Given the description of an element on the screen output the (x, y) to click on. 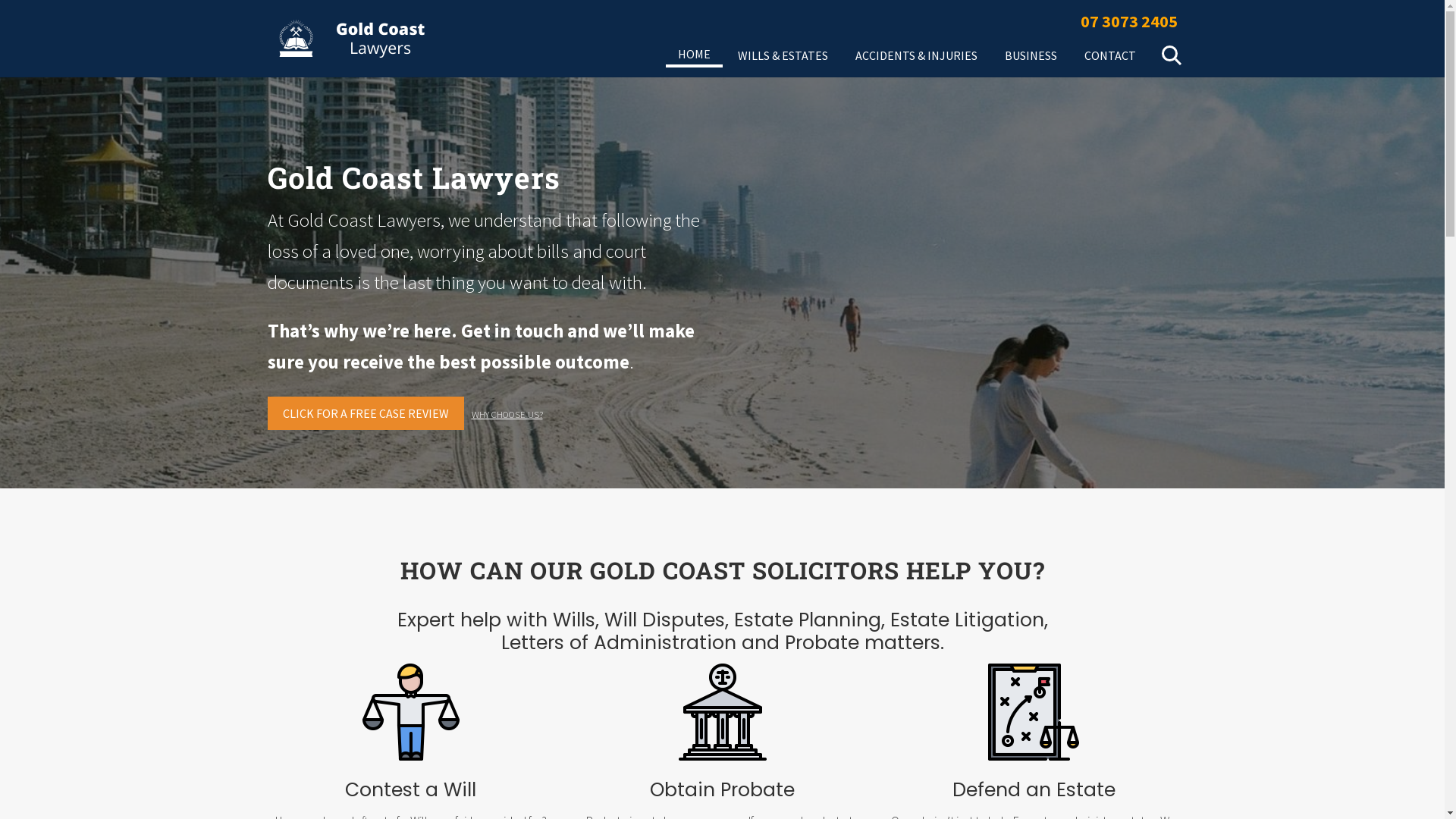
WHY CHOOSE US? Element type: text (506, 413)
HOME Element type: text (693, 55)
ACCIDENTS & INJURIES Element type: text (916, 55)
WILLS & ESTATES Element type: text (781, 55)
CONTACT Element type: text (1110, 55)
BUSINESS Element type: text (1029, 55)
07 3073 2405 Element type: text (1128, 20)
Menu Item Element type: text (1169, 55)
Skip to right header navigation Element type: text (0, 0)
CLICK FOR A FREE CASE REVIEW Element type: text (364, 412)
